Given the description of an element on the screen output the (x, y) to click on. 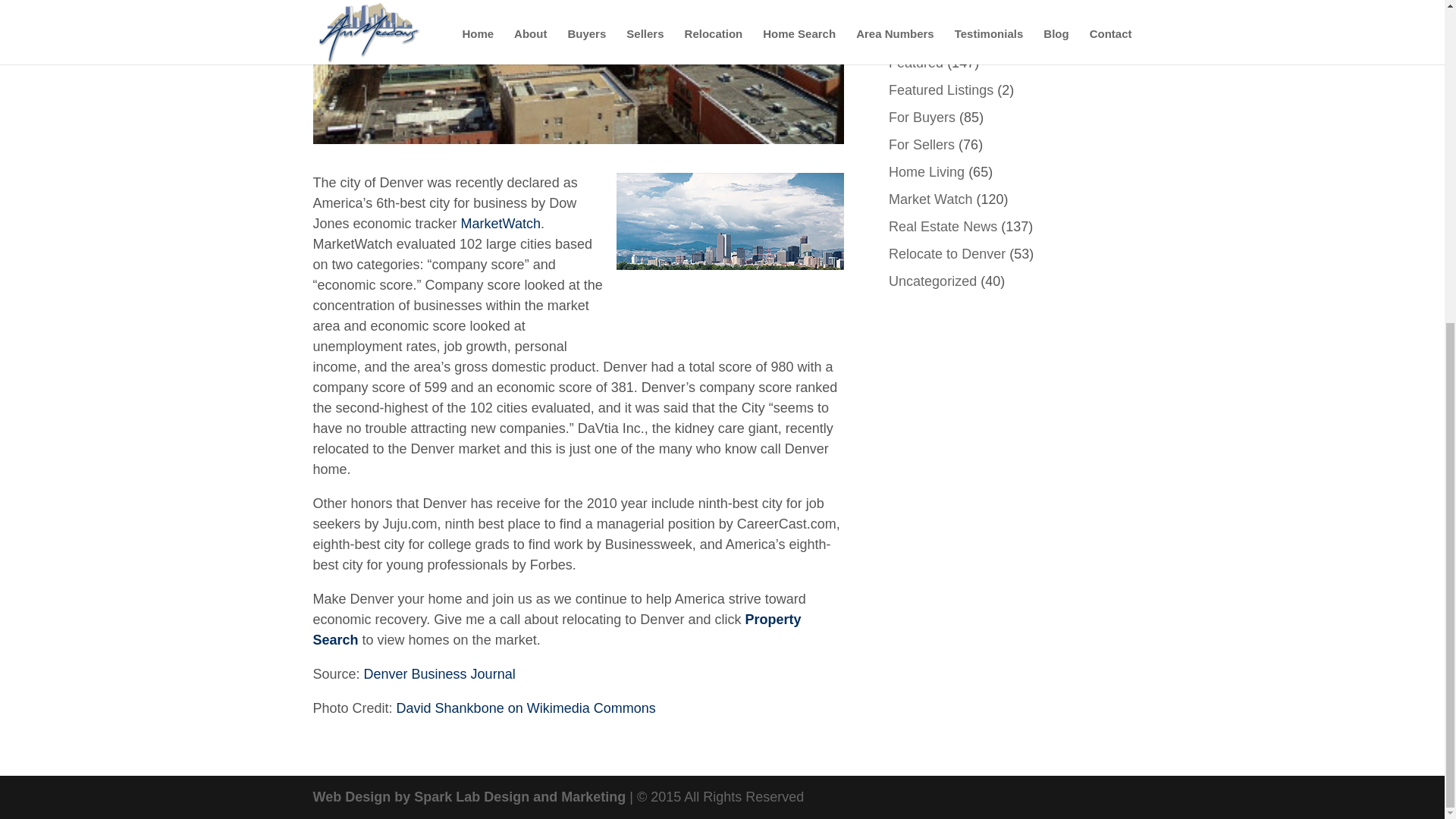
Featured Listings (940, 89)
Relocate to Denver (947, 253)
Web Design by Spark Lab Design and Marketing (469, 796)
Home Living (925, 171)
Uncategorized (932, 281)
David Shankbone on Wikimedia Commons (526, 708)
Real Estate News (942, 226)
For Sellers (921, 144)
For Buyers (921, 117)
Property Search (556, 629)
Denver Business Journal (439, 673)
Featured (915, 62)
Events and Happenings (960, 35)
Market Watch (930, 199)
MarketWatch (500, 223)
